Given the description of an element on the screen output the (x, y) to click on. 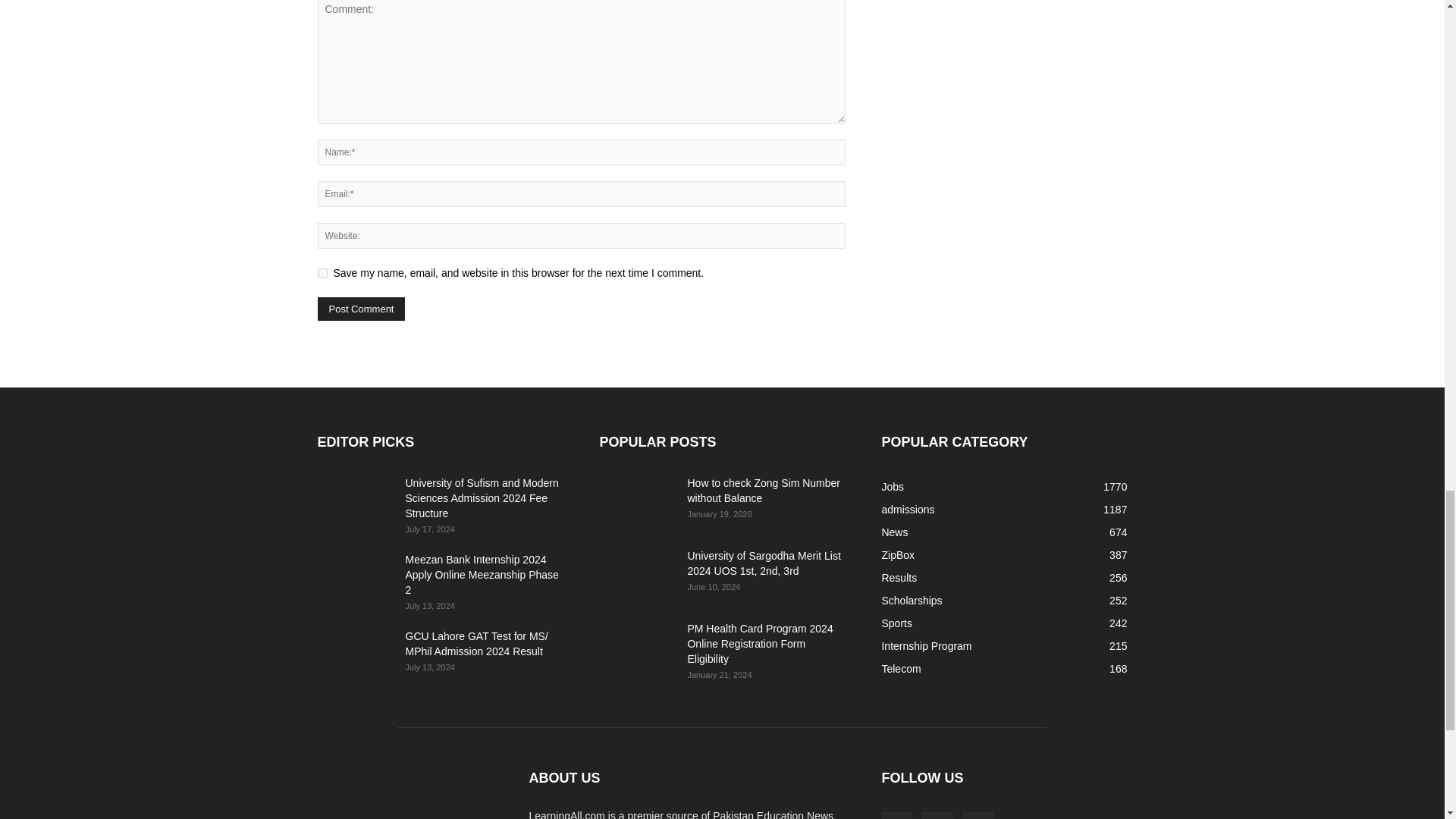
yes (321, 273)
Post Comment (360, 309)
